Given the description of an element on the screen output the (x, y) to click on. 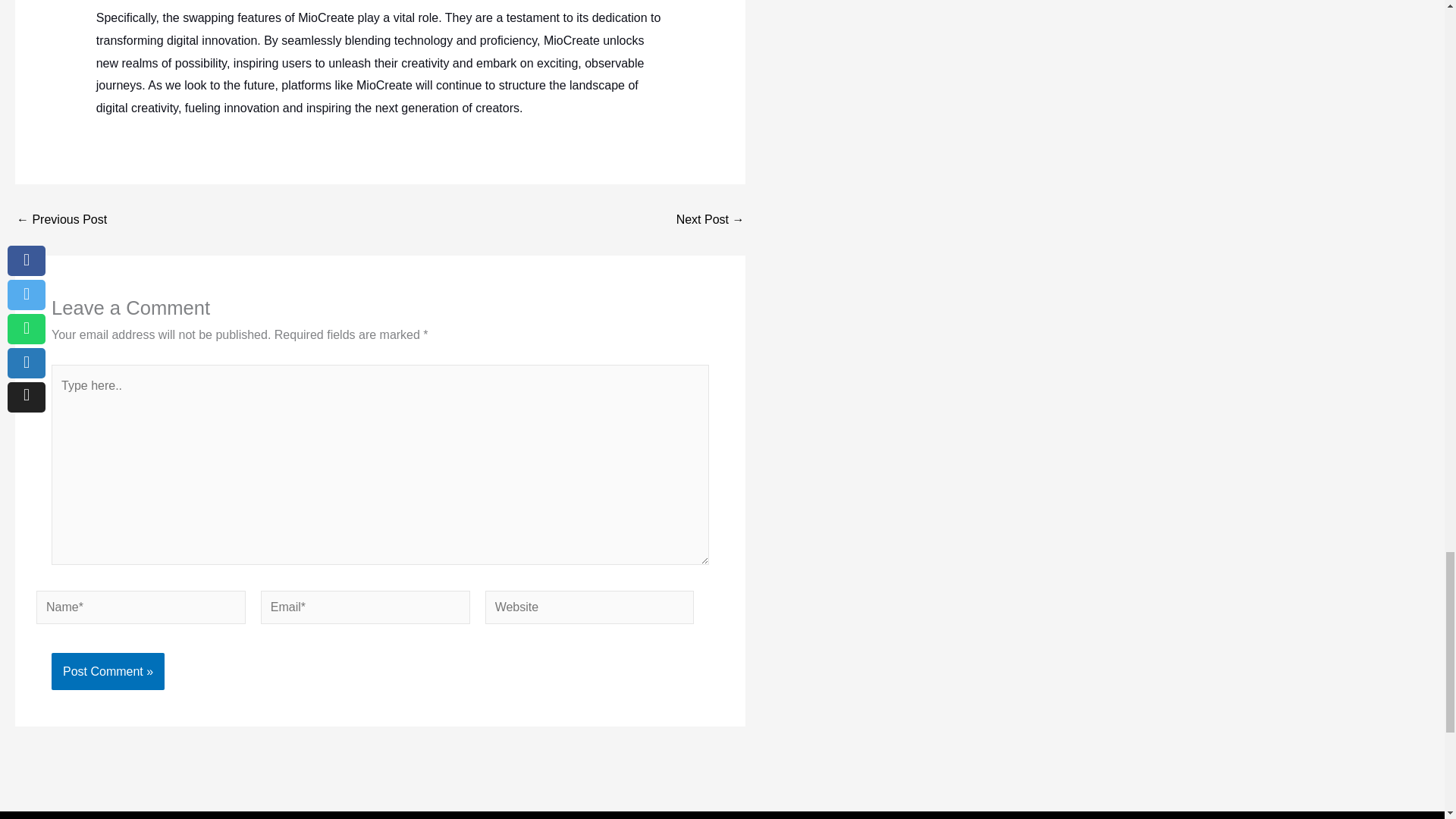
10 Best YouTube to MP3 Converters 2024 (61, 219)
